Given the description of an element on the screen output the (x, y) to click on. 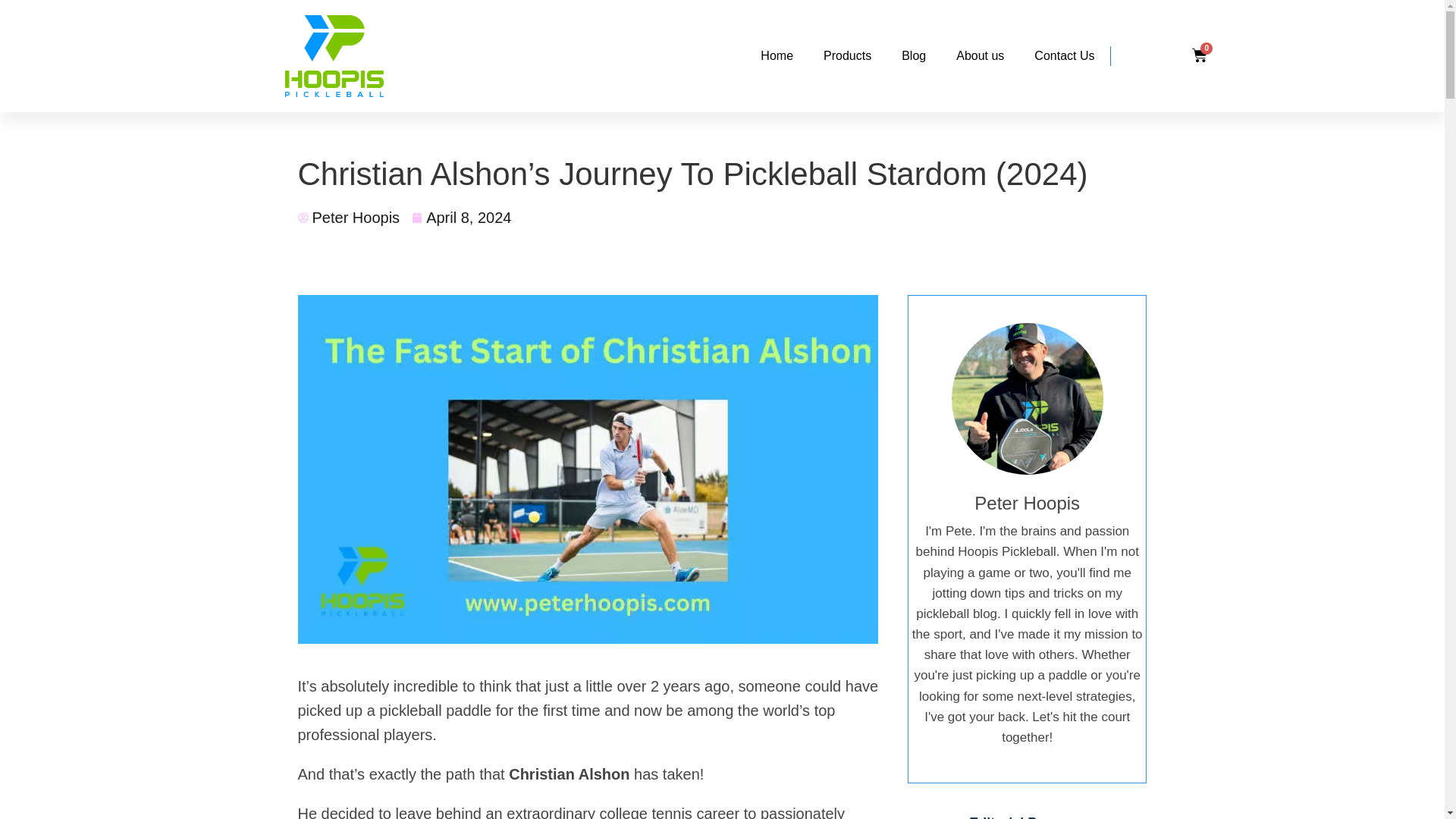
Home (776, 55)
Blog (913, 55)
Contact Us (1064, 55)
About us (979, 55)
My account (1166, 57)
Peter Hoopis (347, 217)
Products (847, 55)
0 (1199, 56)
